Given the description of an element on the screen output the (x, y) to click on. 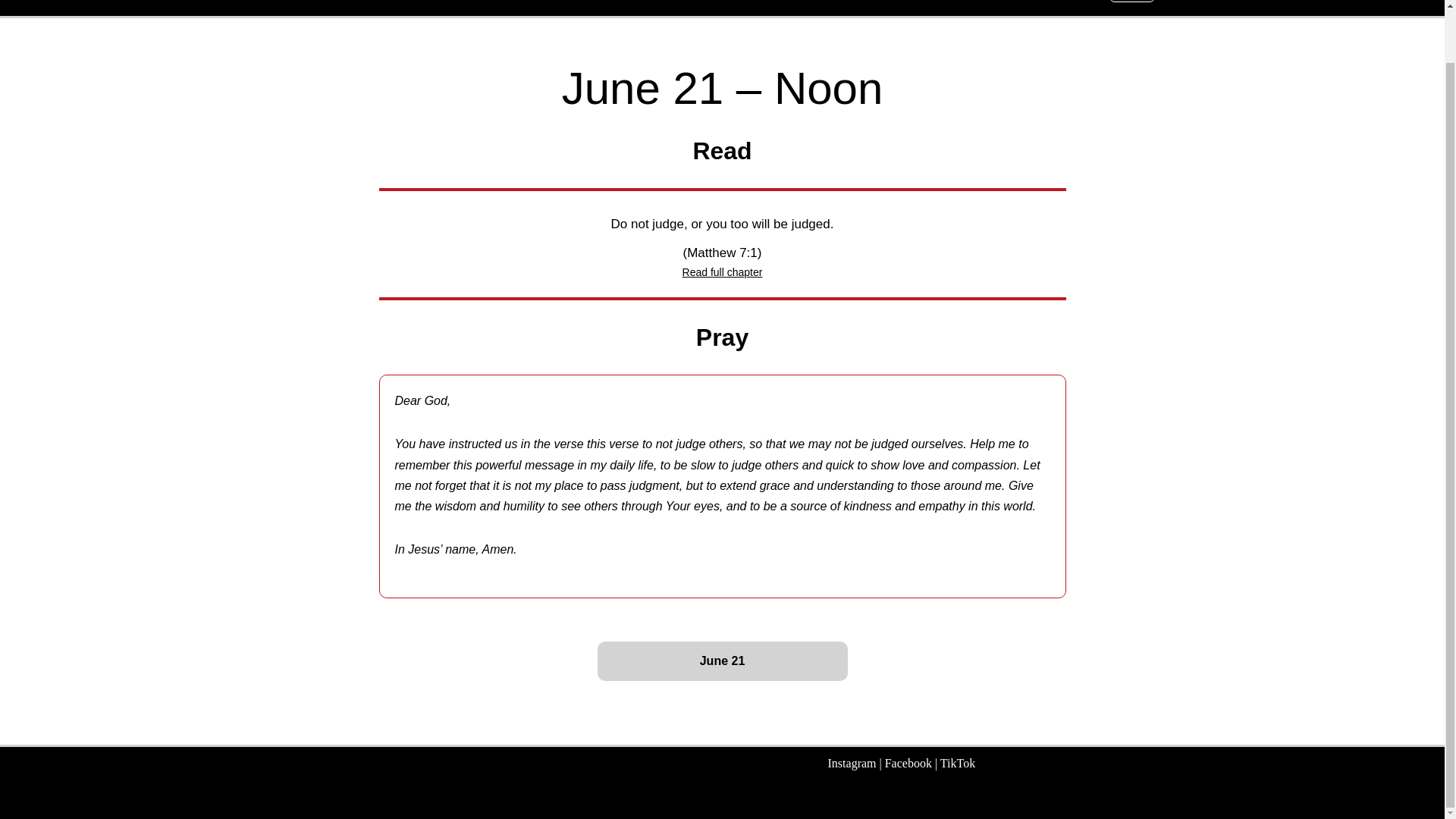
Read. Pray. Repeat. (390, 1)
June 21 (721, 660)
Read full chapter (722, 272)
WordPress (410, 799)
Neve (302, 799)
